Given the description of an element on the screen output the (x, y) to click on. 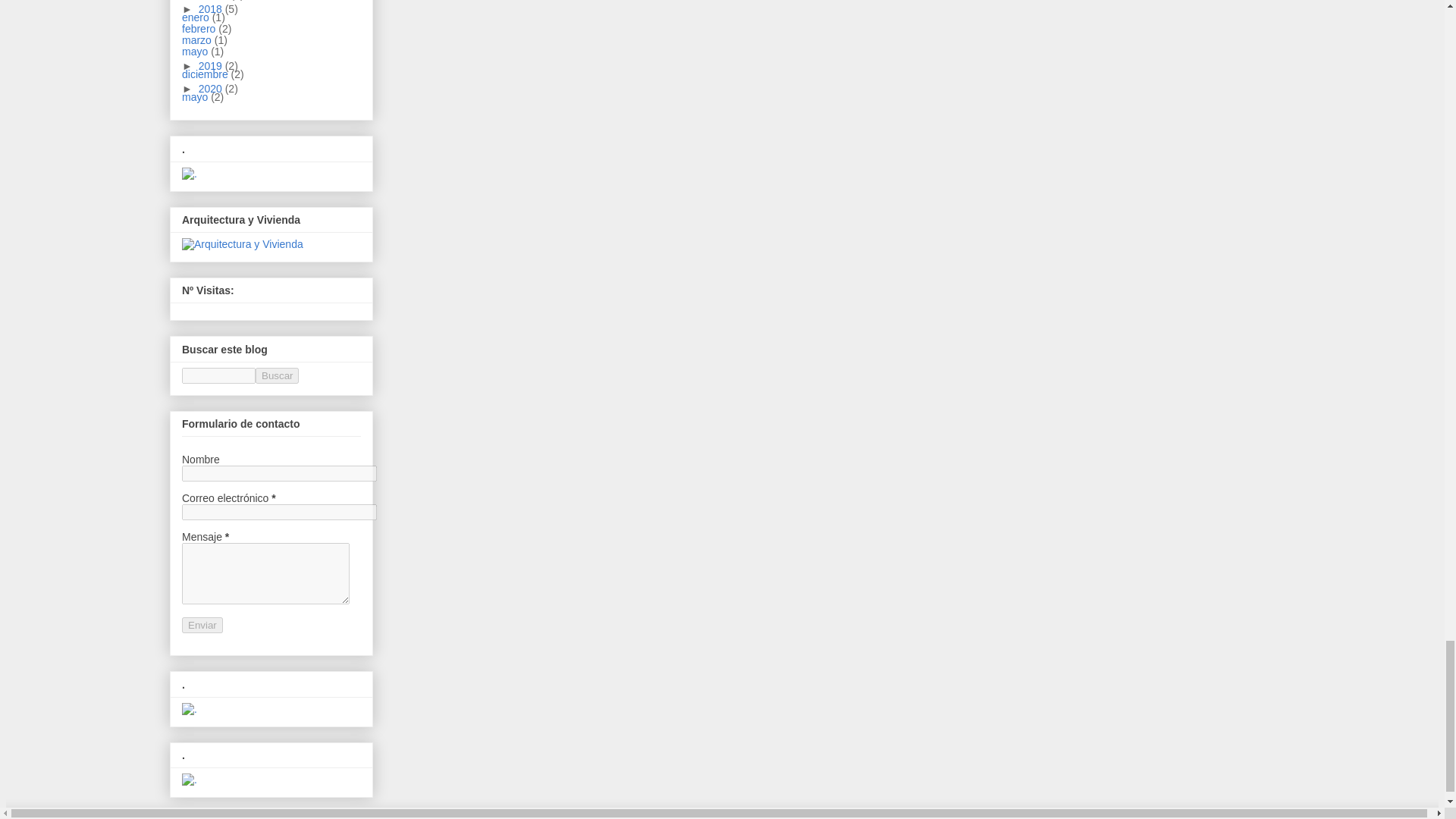
Enviar (202, 625)
Buscar (277, 375)
Buscar (277, 375)
